Given the description of an element on the screen output the (x, y) to click on. 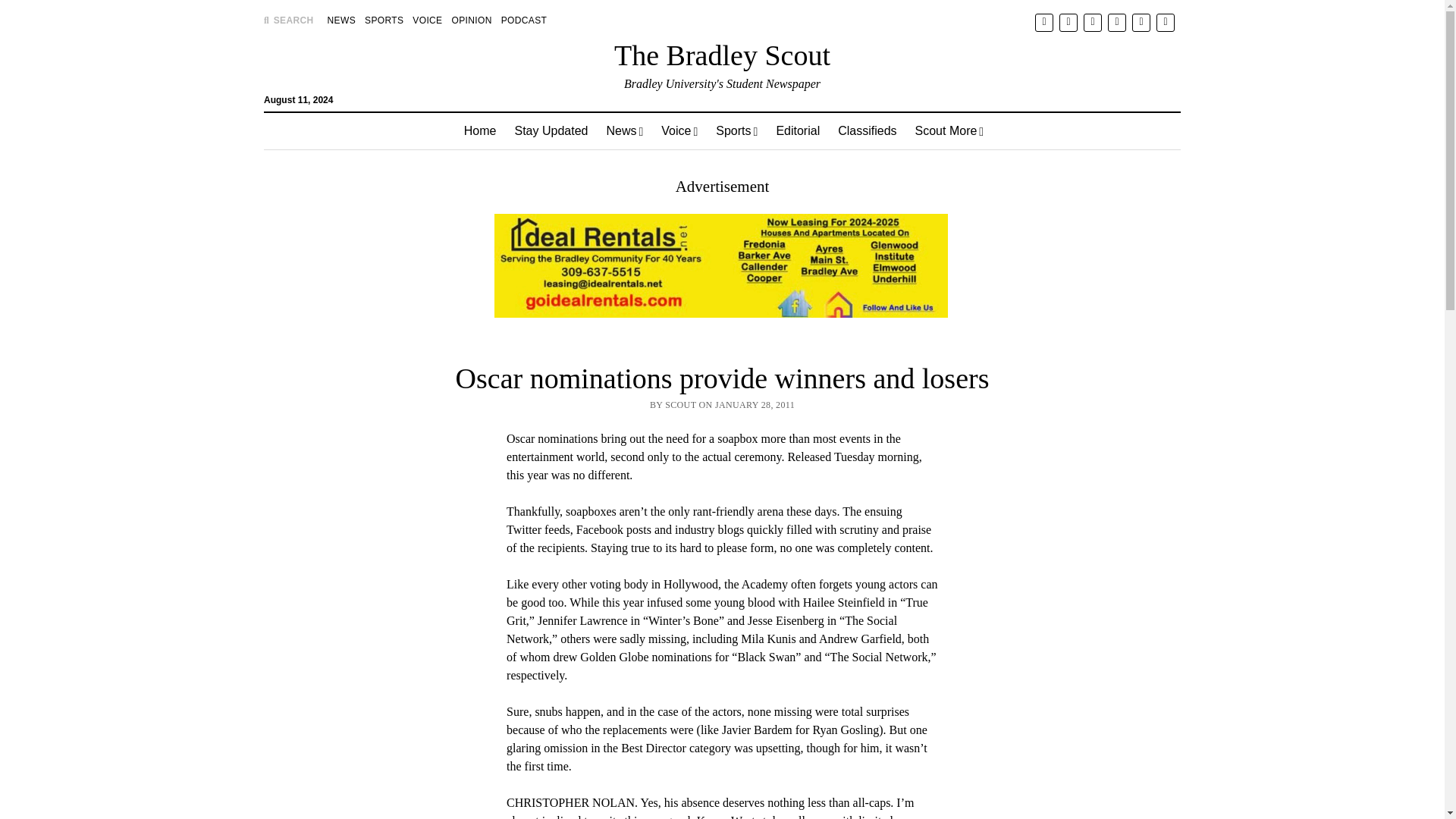
Home (479, 131)
Editorial (797, 131)
VOICE (427, 20)
PODCAST (523, 20)
OPINION (471, 20)
Scout More (948, 131)
Search (945, 129)
The Bradley Scout (721, 55)
Stay Updated (550, 131)
NEWS (341, 20)
